Given the description of an element on the screen output the (x, y) to click on. 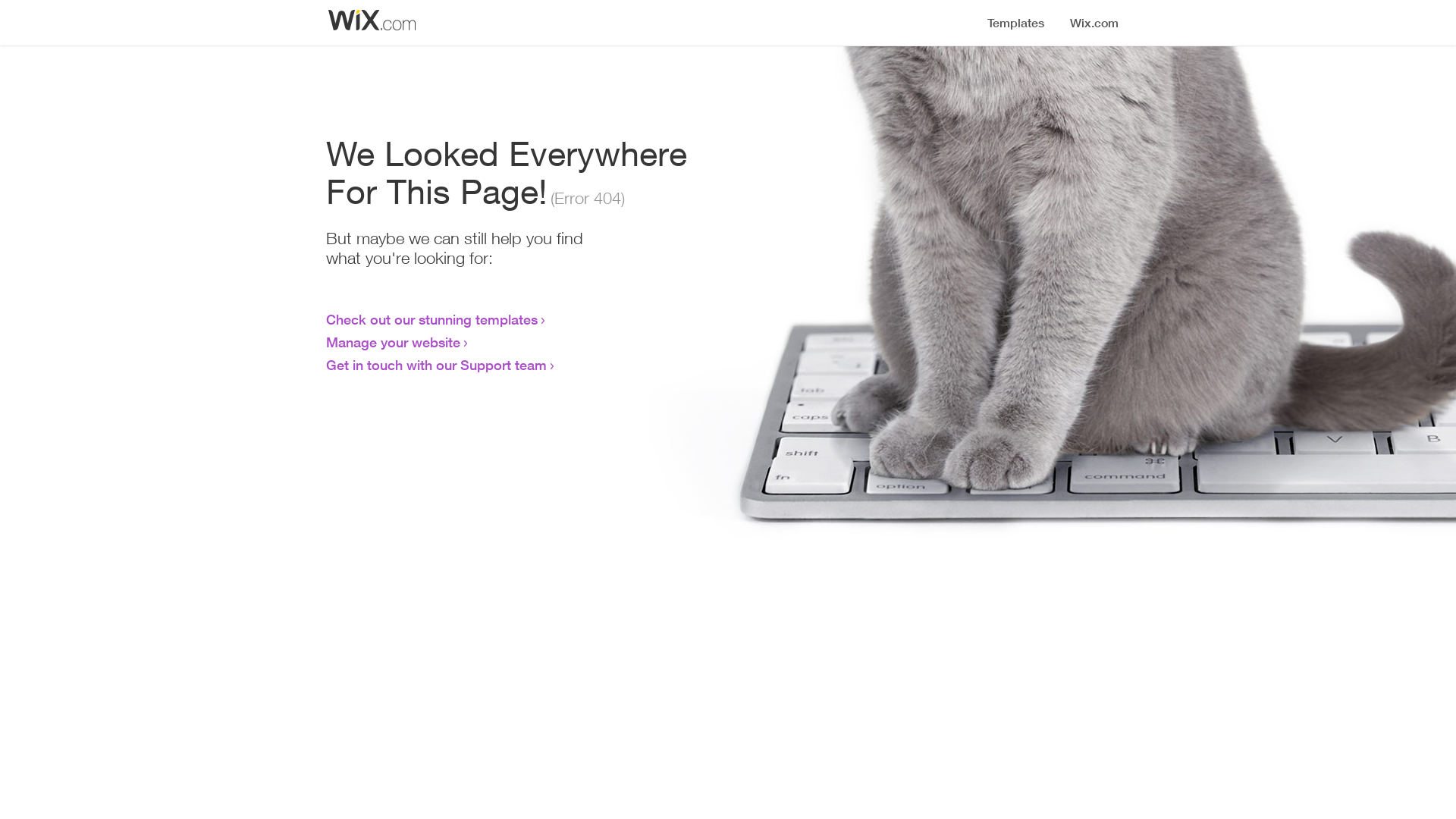
Manage your website Element type: text (393, 341)
Check out our stunning templates Element type: text (431, 318)
Get in touch with our Support team Element type: text (436, 364)
